Given the description of an element on the screen output the (x, y) to click on. 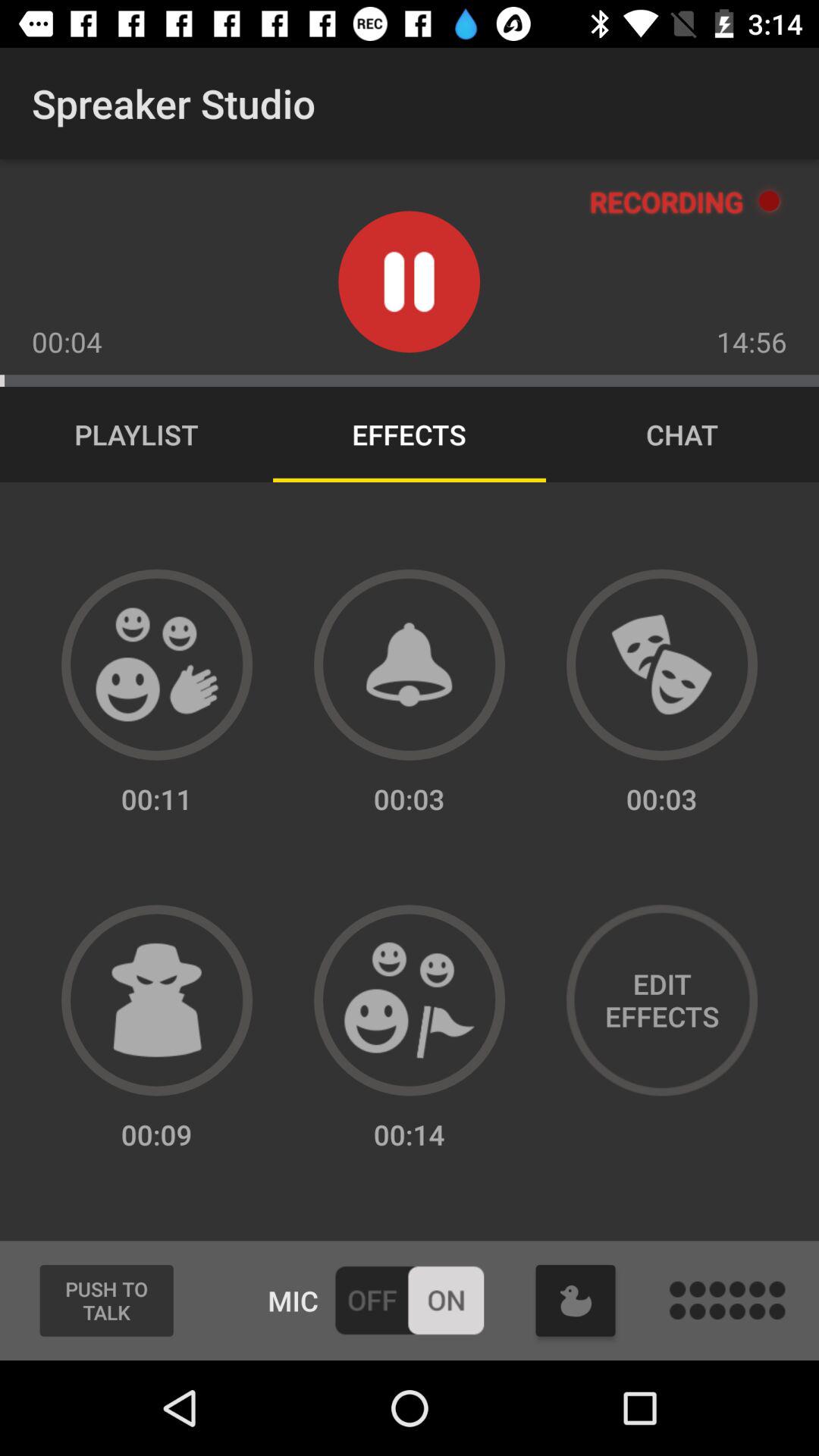
a button to pause (409, 281)
